Given the description of an element on the screen output the (x, y) to click on. 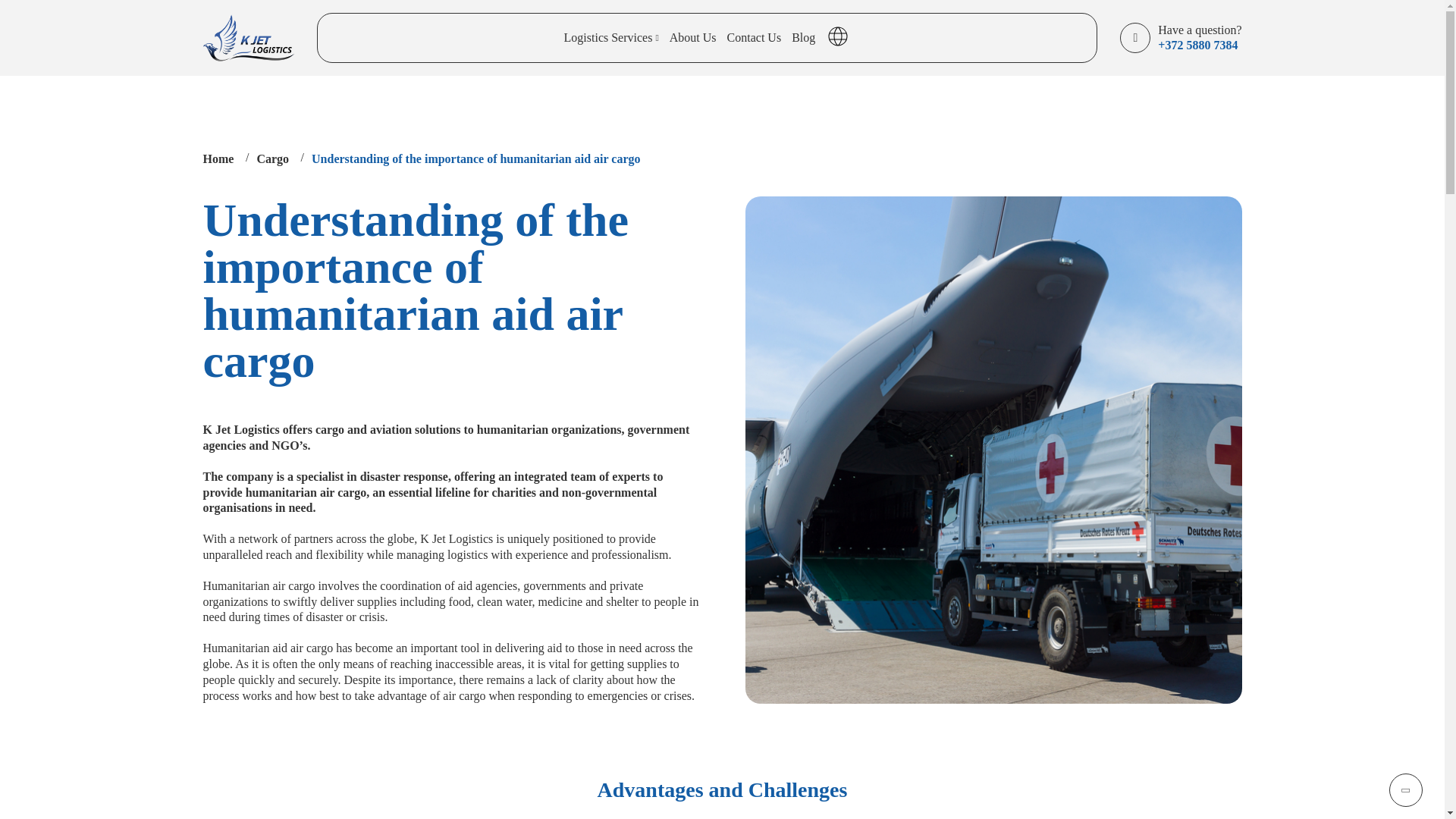
Home (218, 158)
About Us (692, 37)
Contact Us (753, 37)
Cargo (272, 158)
Blog (803, 37)
Logistics Services (611, 38)
